Given the description of an element on the screen output the (x, y) to click on. 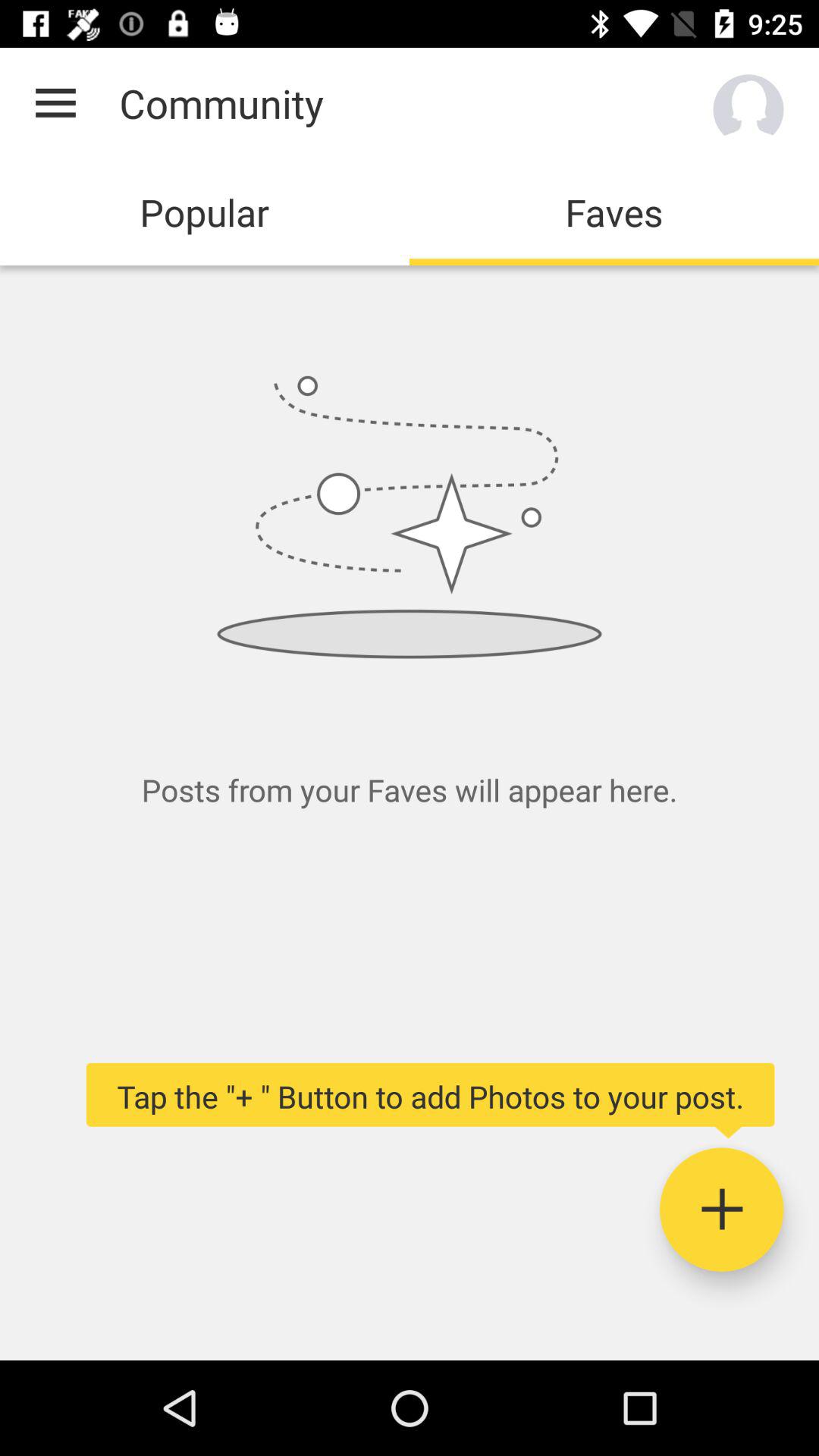
click icon to the left of the community item (55, 103)
